Given the description of an element on the screen output the (x, y) to click on. 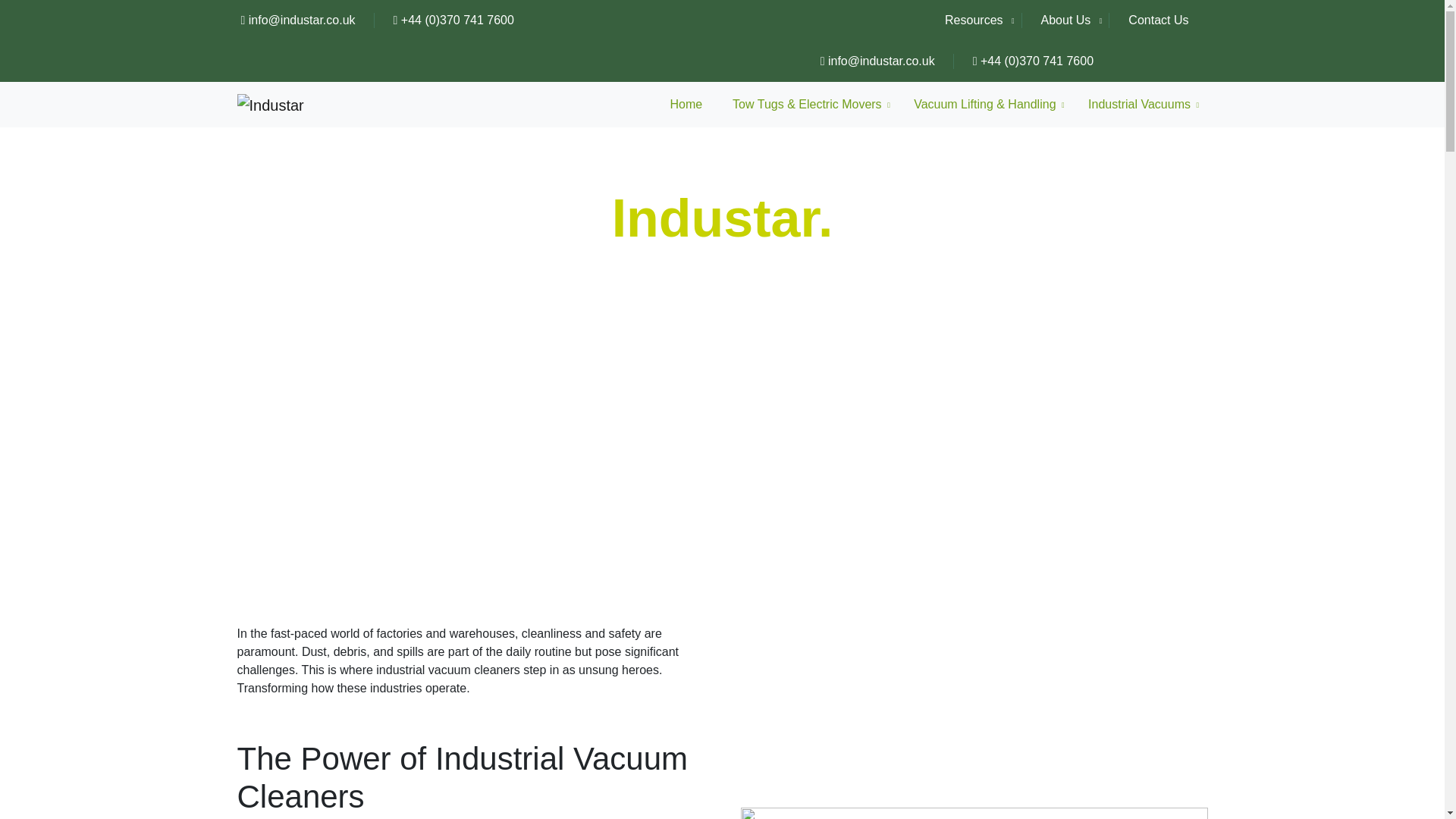
Resources (980, 20)
About Us (1066, 20)
Contact Us (1158, 20)
Home (685, 104)
